Given the description of an element on the screen output the (x, y) to click on. 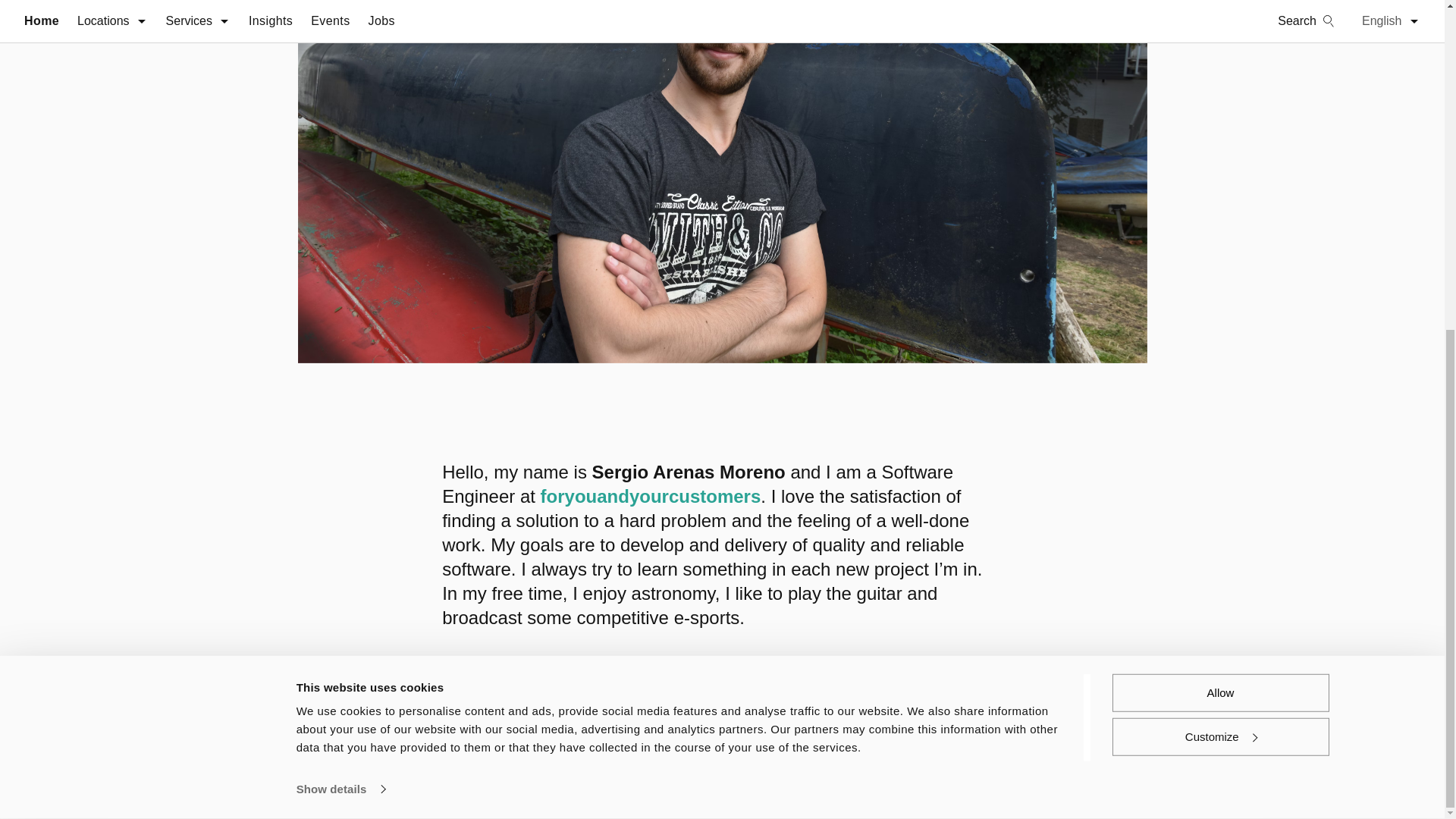
Allow (1219, 147)
Customize (1219, 190)
LinkedIn (1123, 772)
Show details (340, 243)
